Given the description of an element on the screen output the (x, y) to click on. 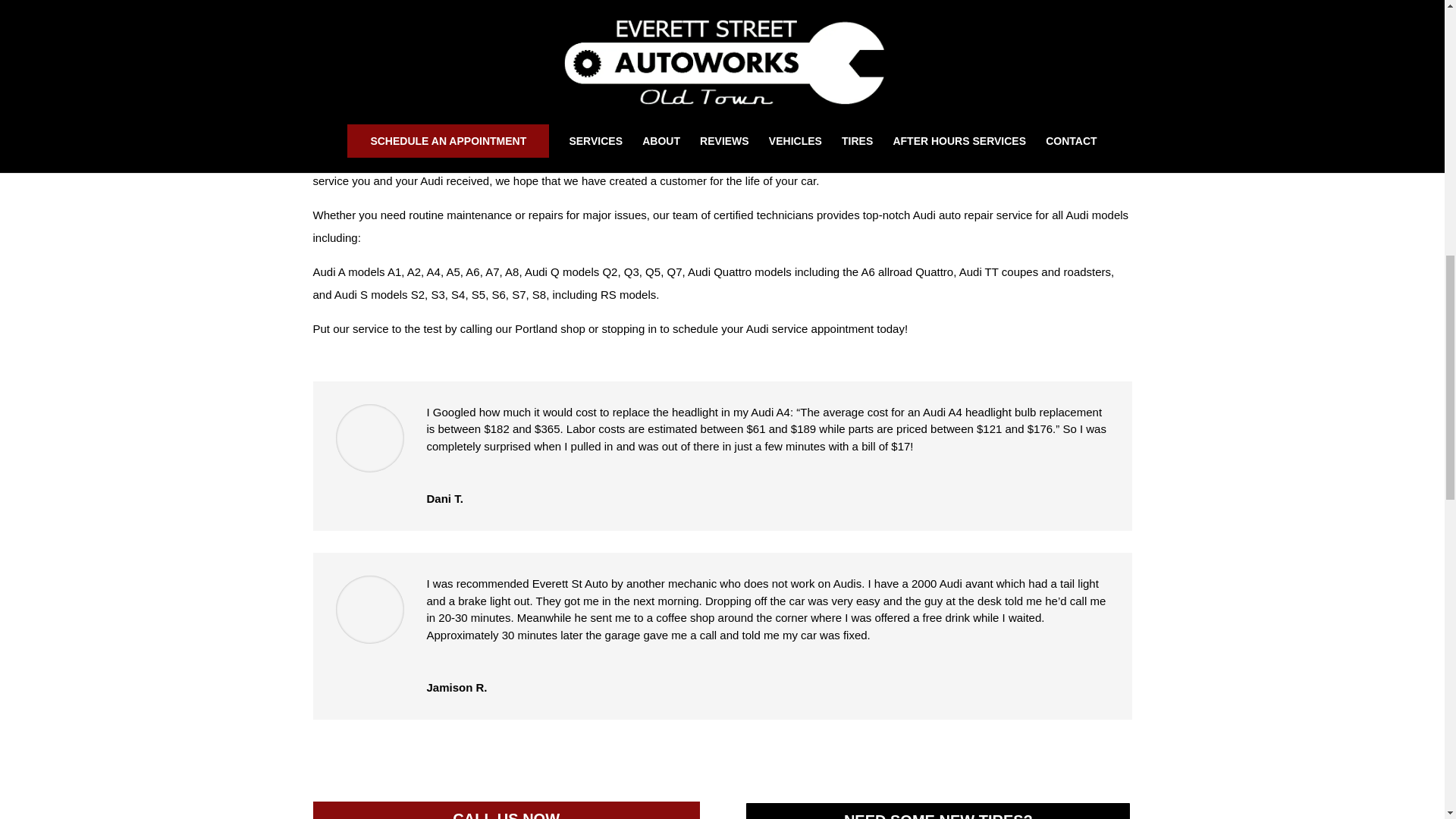
NEED SOME NEW TIRES? (937, 810)
CALL US NOW (505, 810)
